Given the description of an element on the screen output the (x, y) to click on. 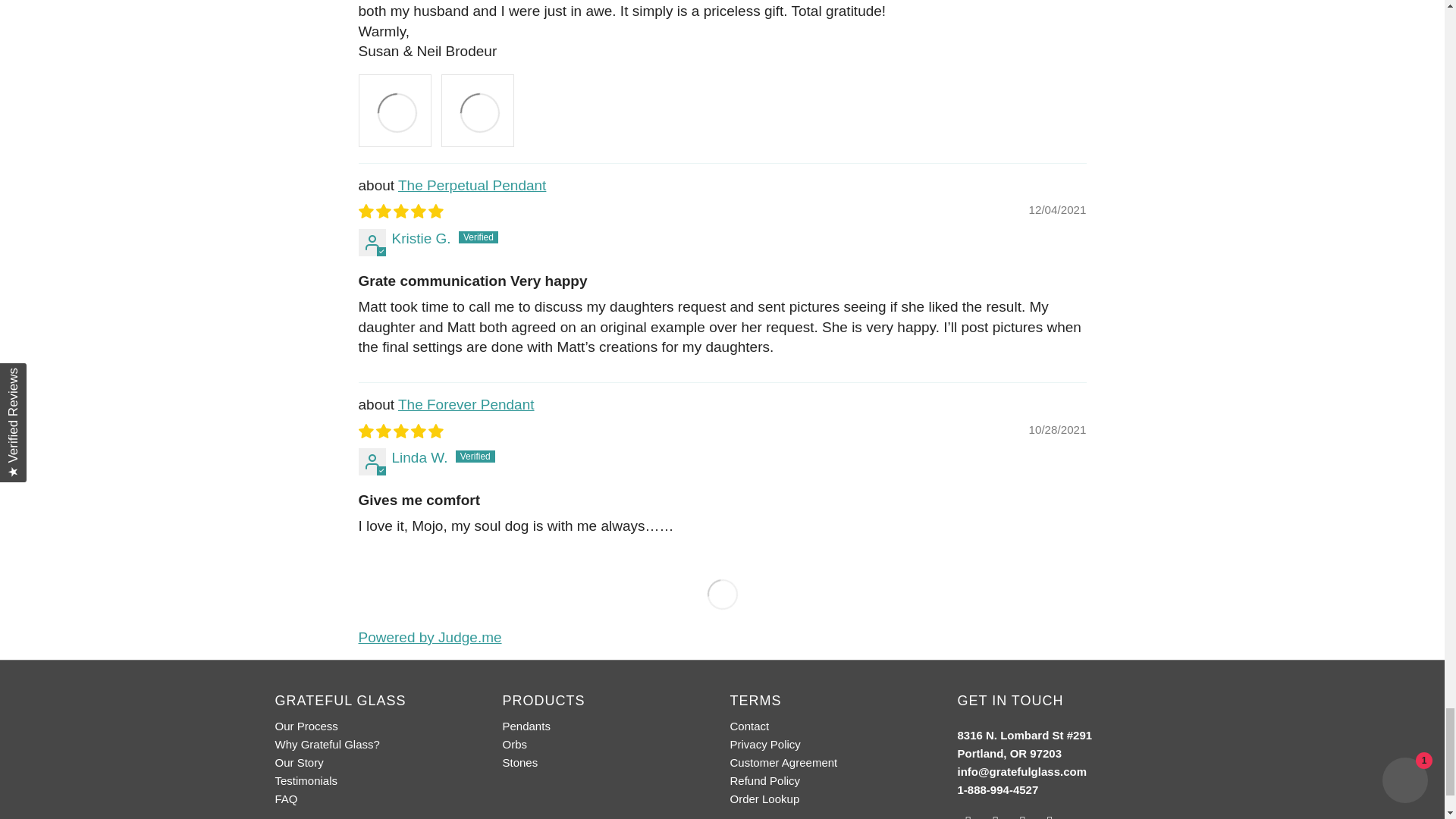
Grateful Glass on Facebook (995, 816)
Grateful Glass on Twitter (967, 816)
Email Grateful Glass (1050, 816)
Grateful Glass on Instagram (1022, 816)
tel:1-888-994-4527 (997, 789)
